Given the description of an element on the screen output the (x, y) to click on. 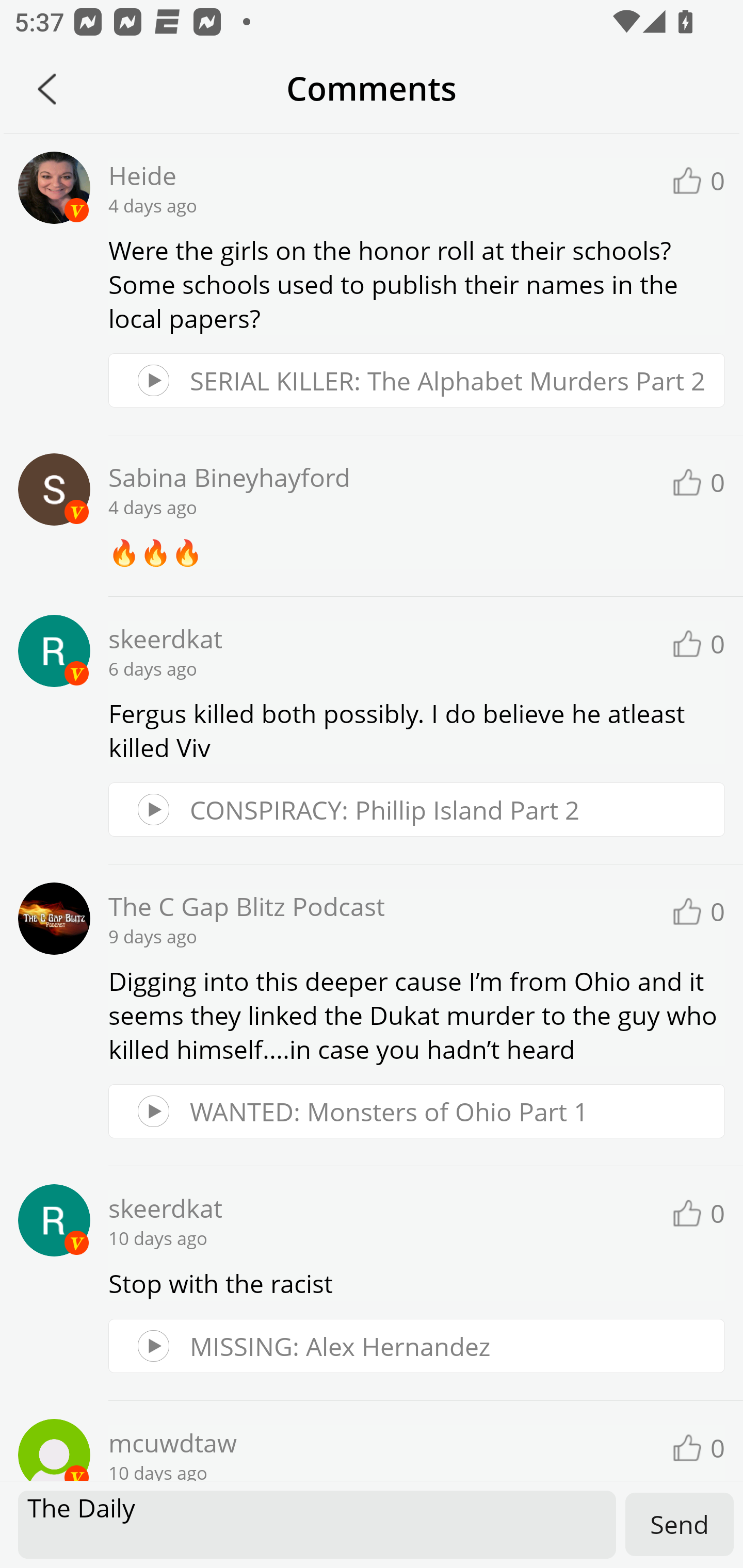
Back (46, 88)
The Daily
 (316, 1524)
Send (679, 1523)
